Given the description of an element on the screen output the (x, y) to click on. 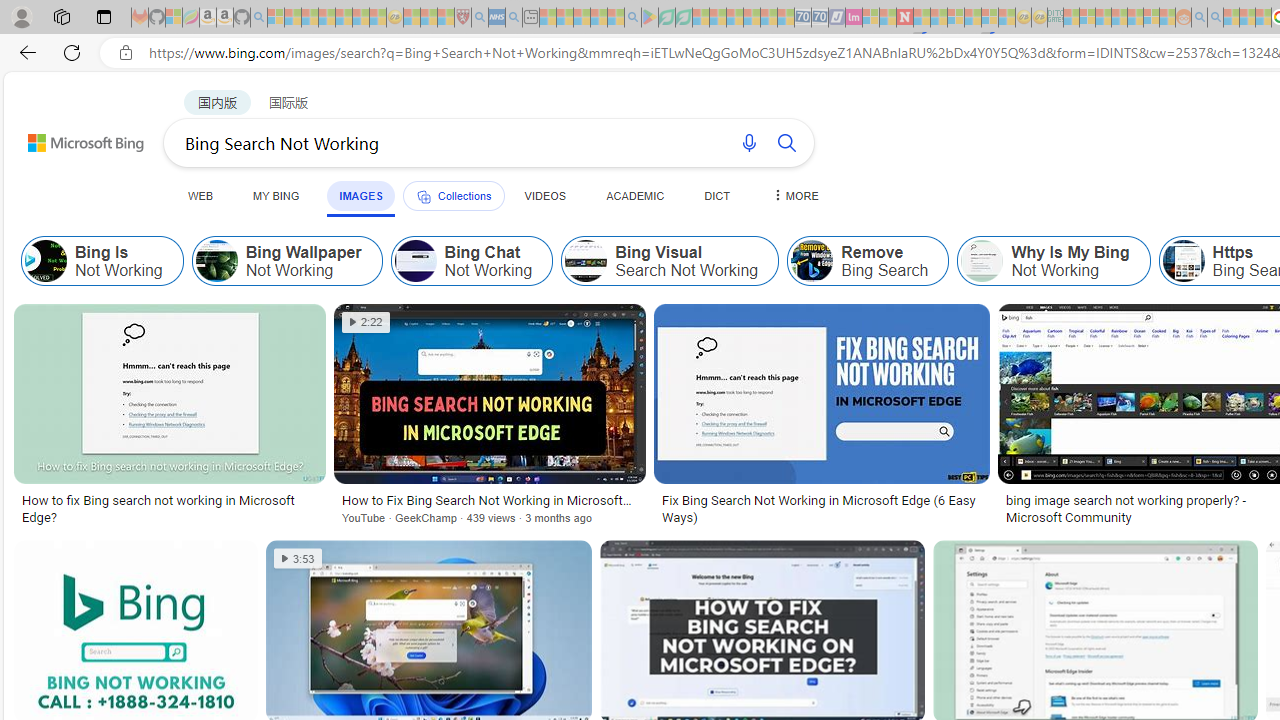
MY BING (276, 195)
ACADEMIC (635, 195)
Class: b_pri_nav_svg (423, 196)
How to fix Bing search not working in Microsoft Edge?Save (174, 417)
Why Is My Bing Not Working (982, 260)
